Given the description of an element on the screen output the (x, y) to click on. 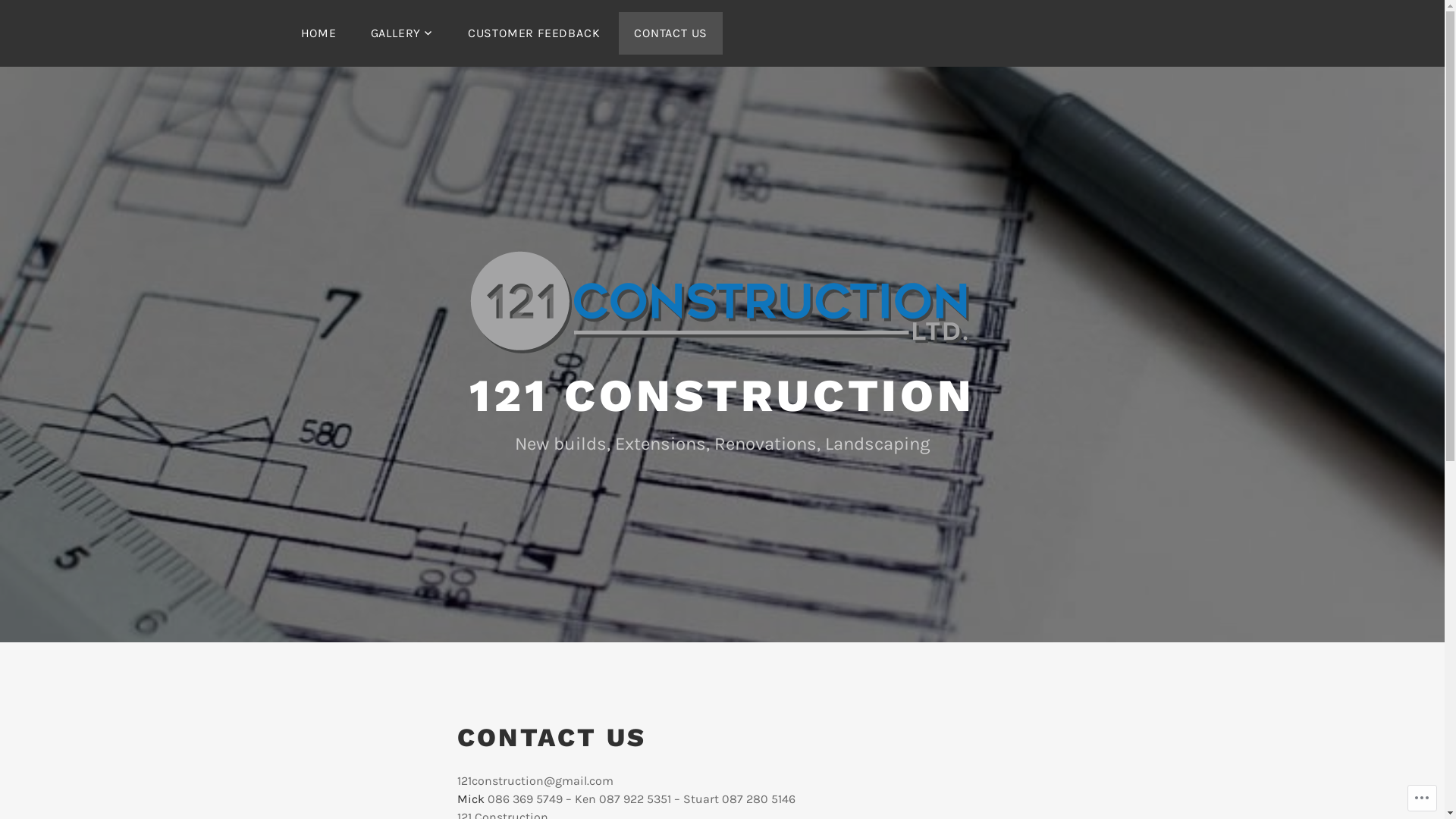
121construction@gmail.com Element type: text (534, 781)
CONTACT US Element type: text (670, 33)
GALLERY Element type: text (401, 33)
121 CONSTRUCTION Element type: text (722, 395)
CUSTOMER FEEDBACK Element type: text (533, 33)
HOME Element type: text (318, 33)
